Given the description of an element on the screen output the (x, y) to click on. 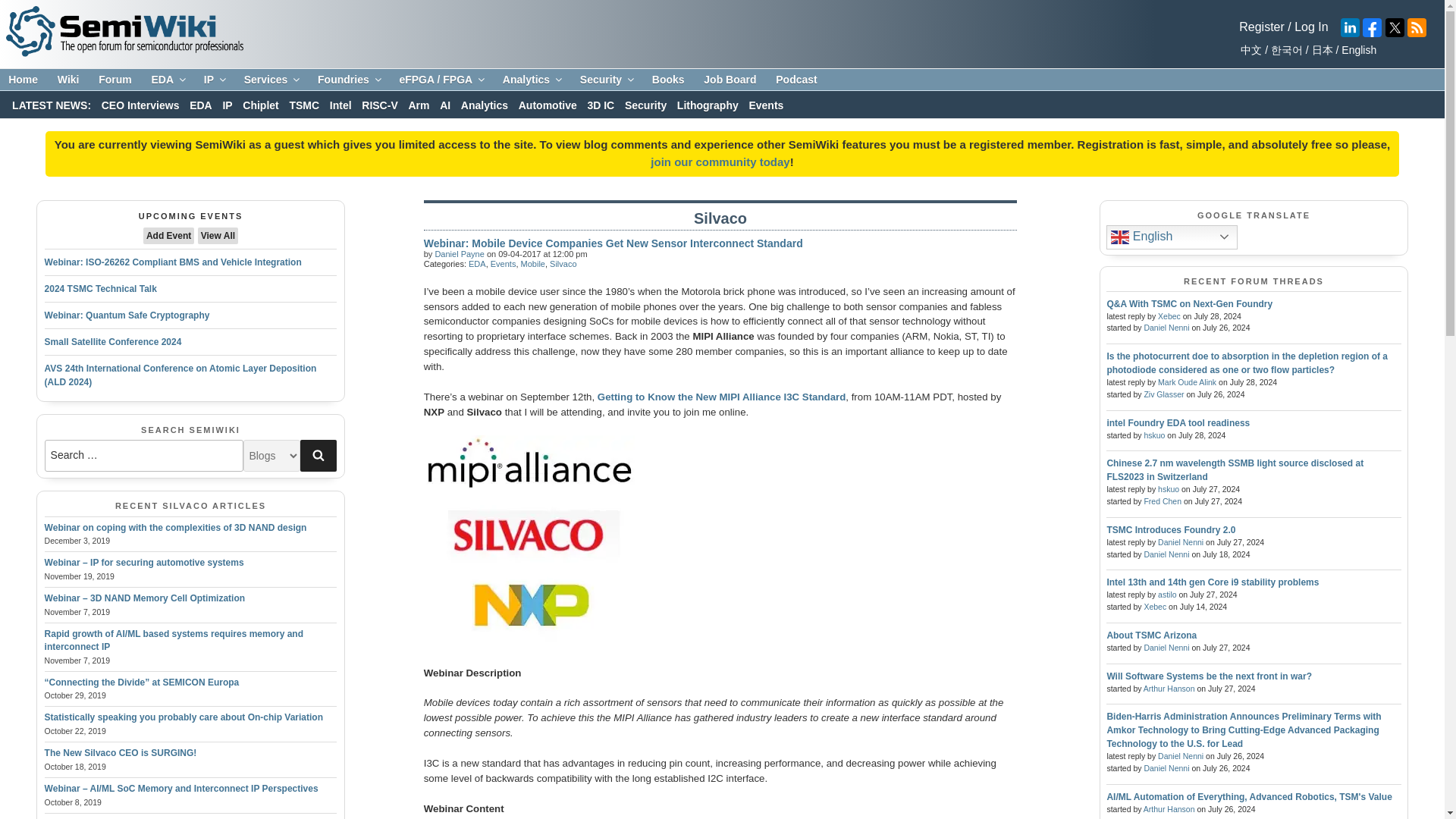
Wiki (68, 79)
Login (1261, 26)
Japanese (1319, 50)
Login (719, 161)
Login (1310, 26)
EDA (167, 79)
Webinar: ISO-26262 Compliant BMS and Vehicle Integration (173, 262)
English (1356, 50)
Korean (1284, 50)
Log In (1310, 26)
IP (213, 79)
Forum (114, 79)
Home (23, 79)
Register (1261, 26)
Webinar: Quantum Safe Cryptography (127, 315)
